Given the description of an element on the screen output the (x, y) to click on. 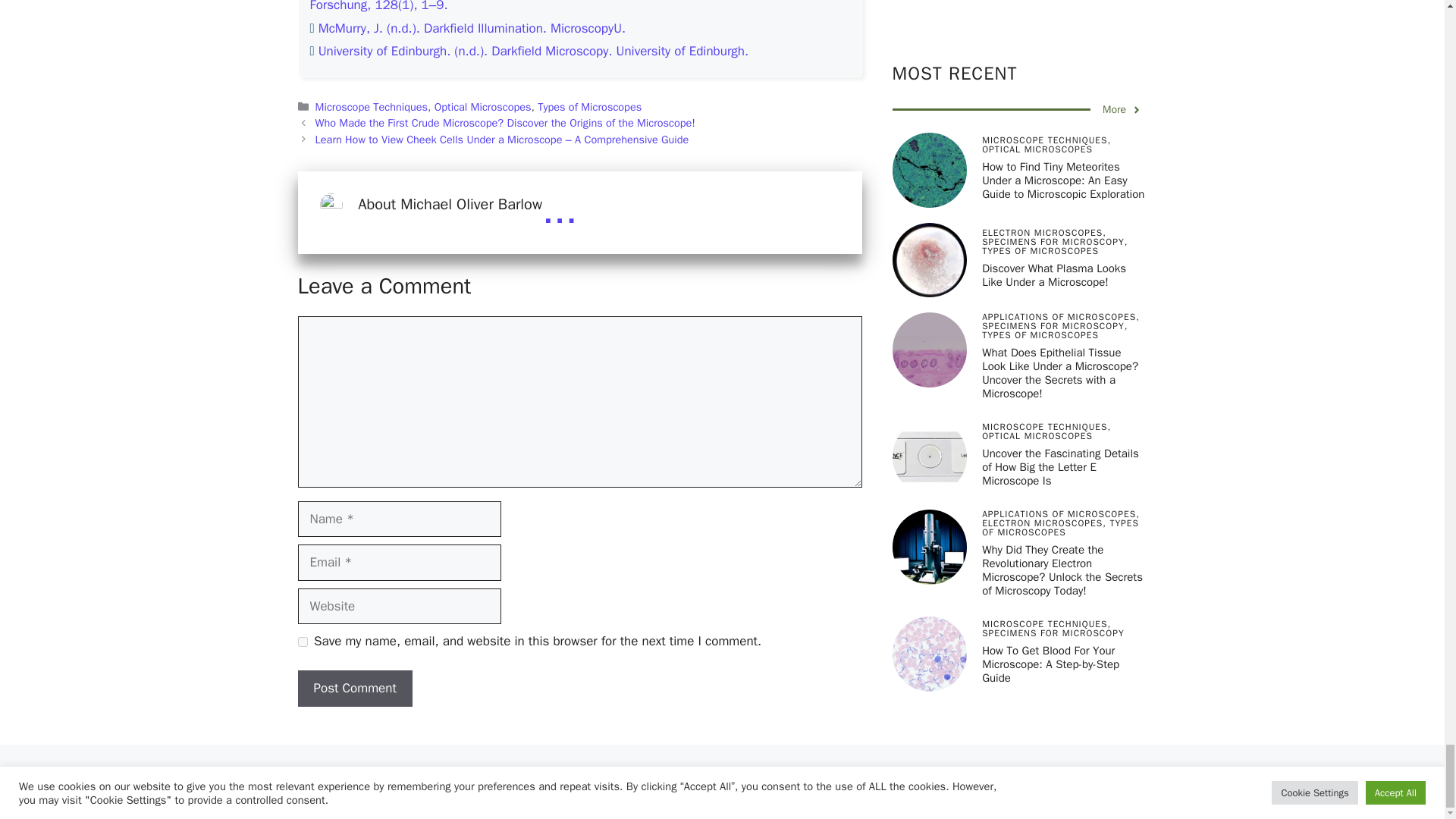
Post Comment (354, 688)
Read more (558, 210)
yes (302, 642)
